Given the description of an element on the screen output the (x, y) to click on. 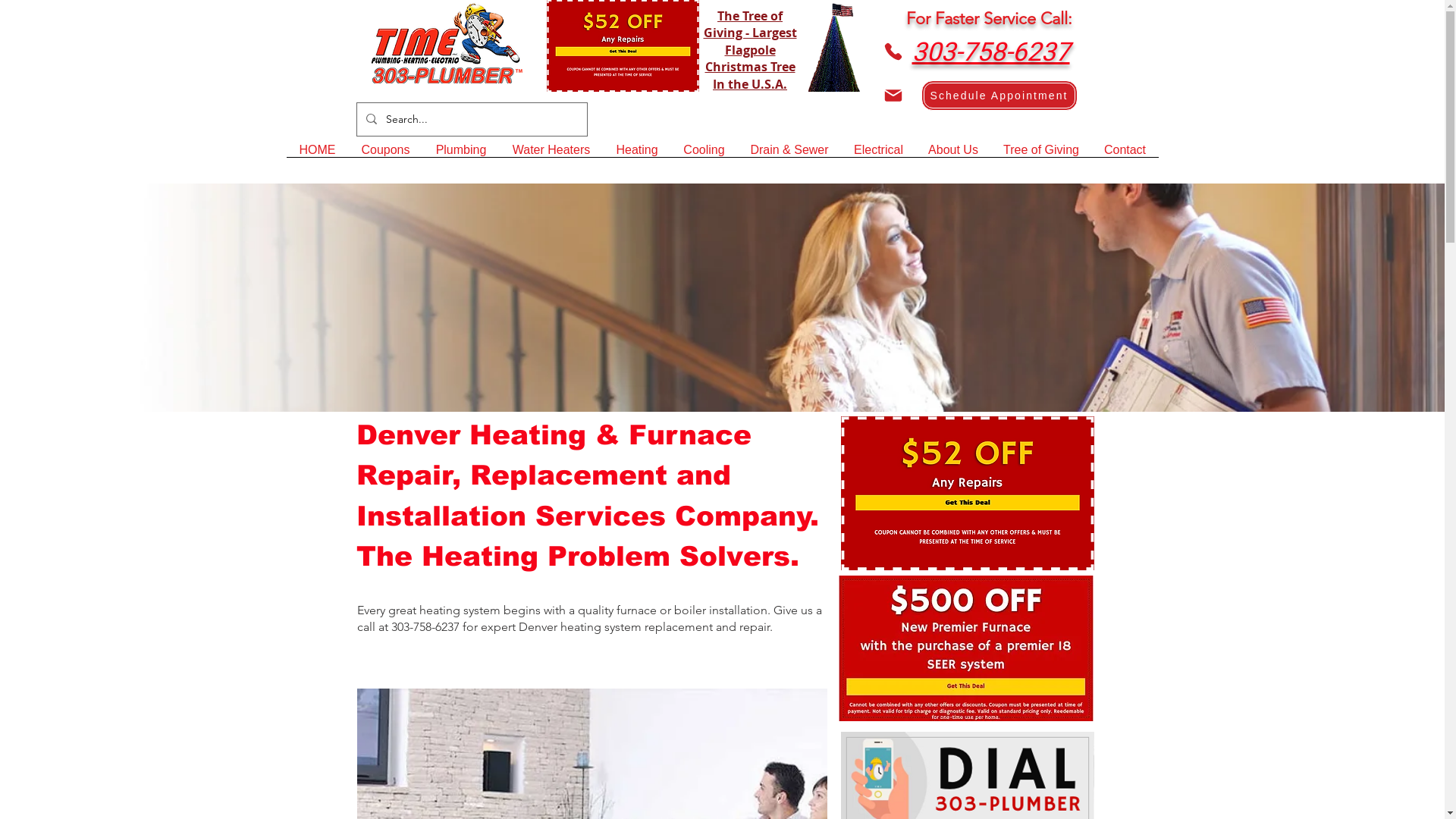
Contact Element type: text (1125, 154)
Electrical Element type: text (878, 154)
Coupons Element type: text (385, 154)
Drain & Sewer Element type: text (788, 154)
Schedule Appointment Element type: text (998, 95)
Plumbing Element type: text (461, 154)
Water Heaters Element type: text (550, 154)
$52 off Services.png Element type: hover (622, 45)
About Us Element type: text (953, 154)
303-758-6237 Element type: text (990, 53)
Cooling Element type: text (703, 154)
Tree of Giving Element type: text (1040, 154)
HOME Element type: text (317, 154)
Heating Element type: text (637, 154)
